Given the description of an element on the screen output the (x, y) to click on. 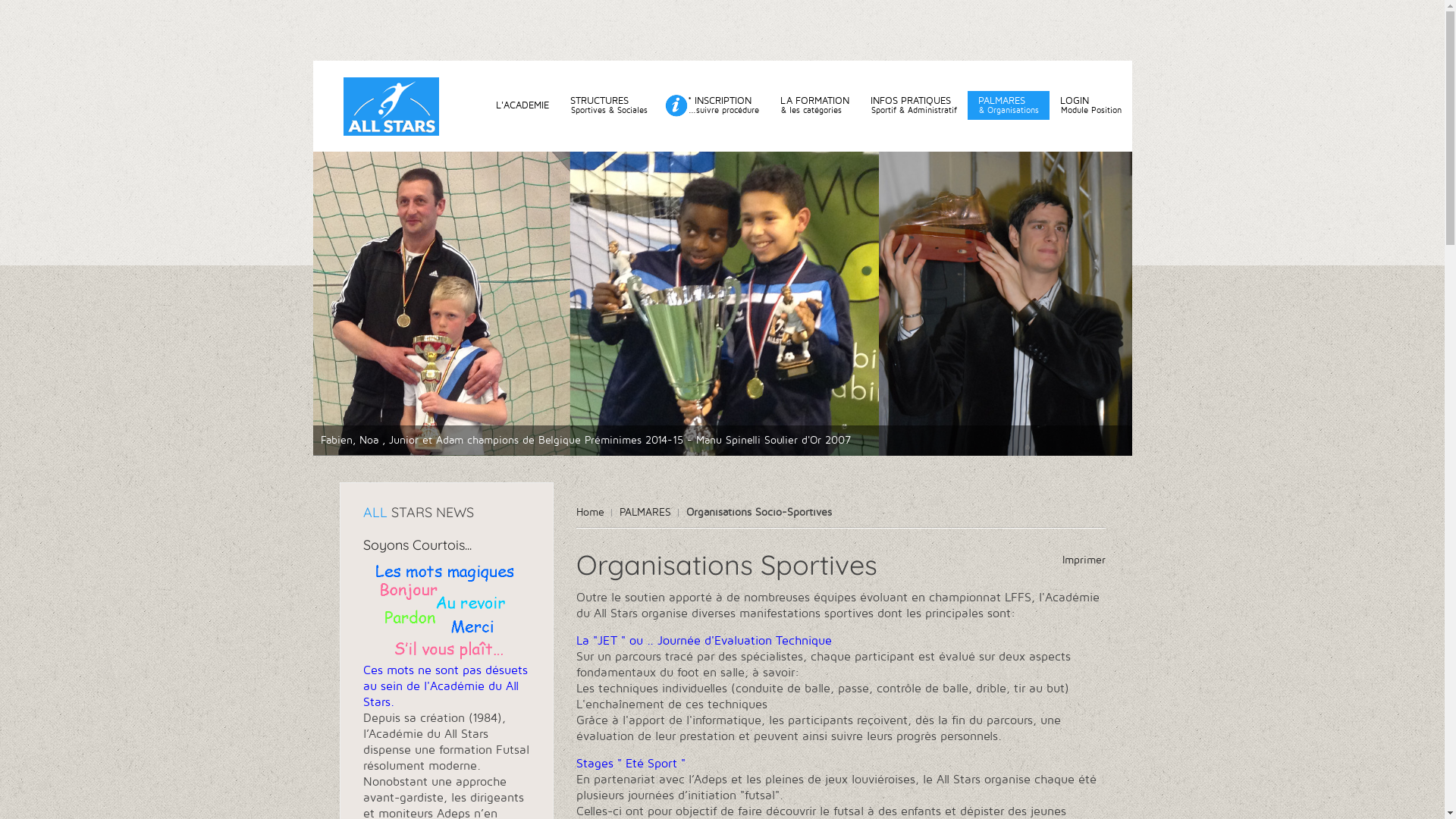
Soyons Courtois... Element type: text (416, 544)
PALMARES Element type: text (647, 512)
Imprimer Element type: text (1082, 559)
STRUCTURES
Sportives & Sociales Element type: text (608, 105)
PALMARES
& Organisations Element type: text (1008, 105)
INFOS PRATIQUES
Sportif & Administratif Element type: text (913, 105)
Home Element type: text (593, 512)
L'ACADEMIE Element type: text (522, 105)
